Given the description of an element on the screen output the (x, y) to click on. 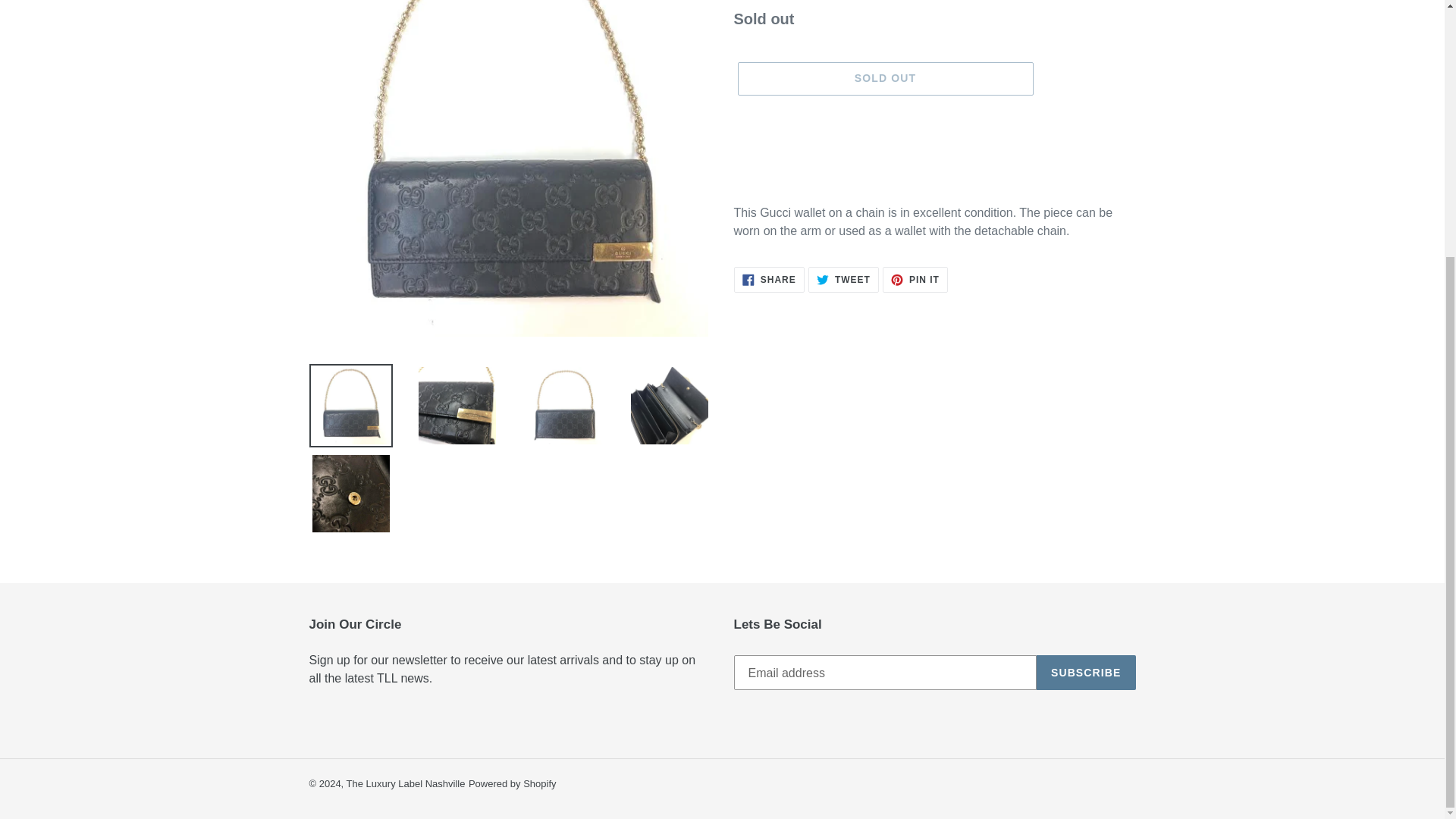
Powered by Shopify (512, 783)
SUBSCRIBE (1085, 672)
SOLD OUT (843, 279)
The Luxury Label Nashville (884, 78)
